Given the description of an element on the screen output the (x, y) to click on. 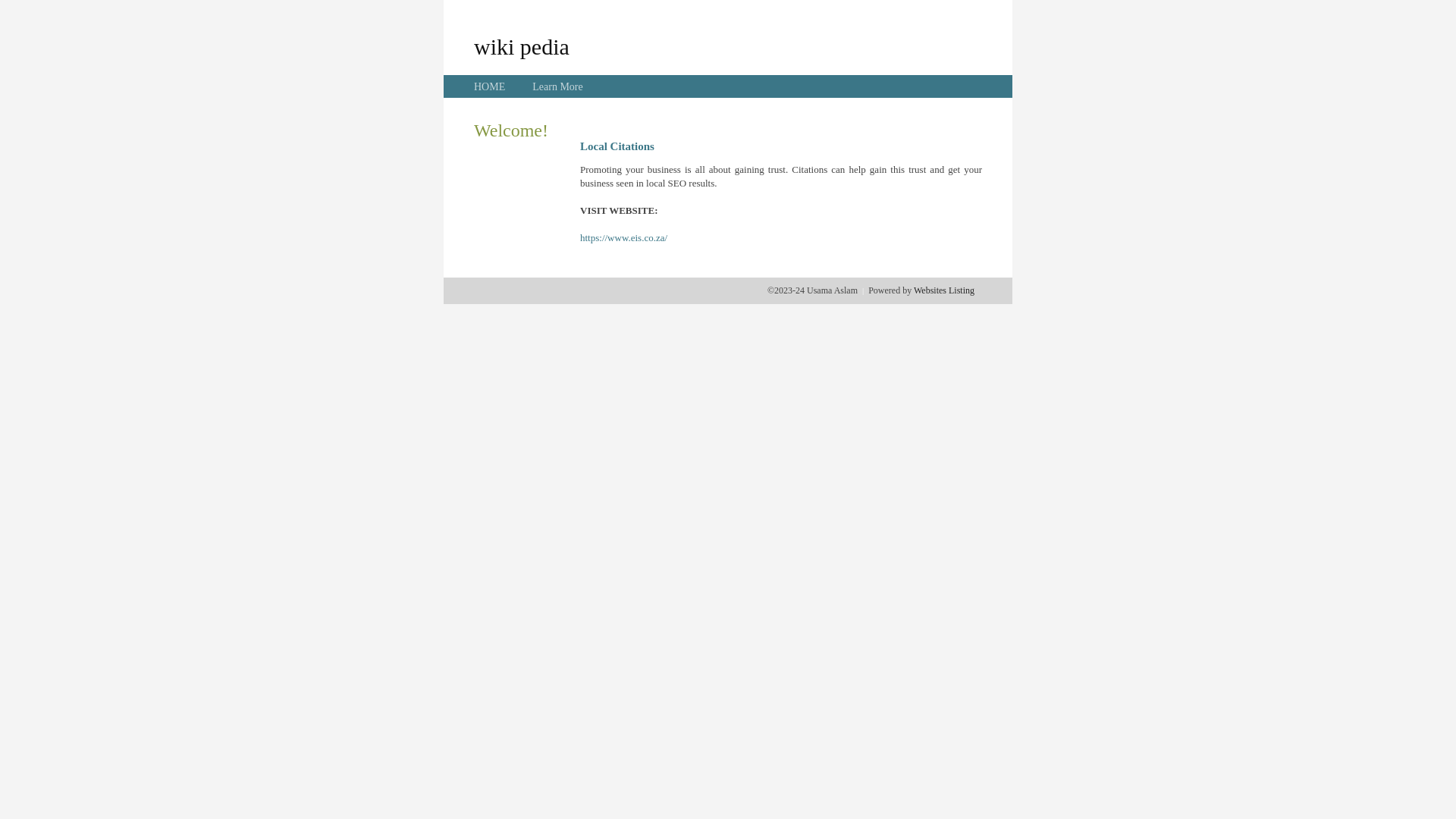
Websites Listing Element type: text (943, 290)
https://www.eis.co.za/ Element type: text (623, 237)
HOME Element type: text (489, 86)
wiki pedia Element type: text (521, 46)
Learn More Element type: text (557, 86)
